Given the description of an element on the screen output the (x, y) to click on. 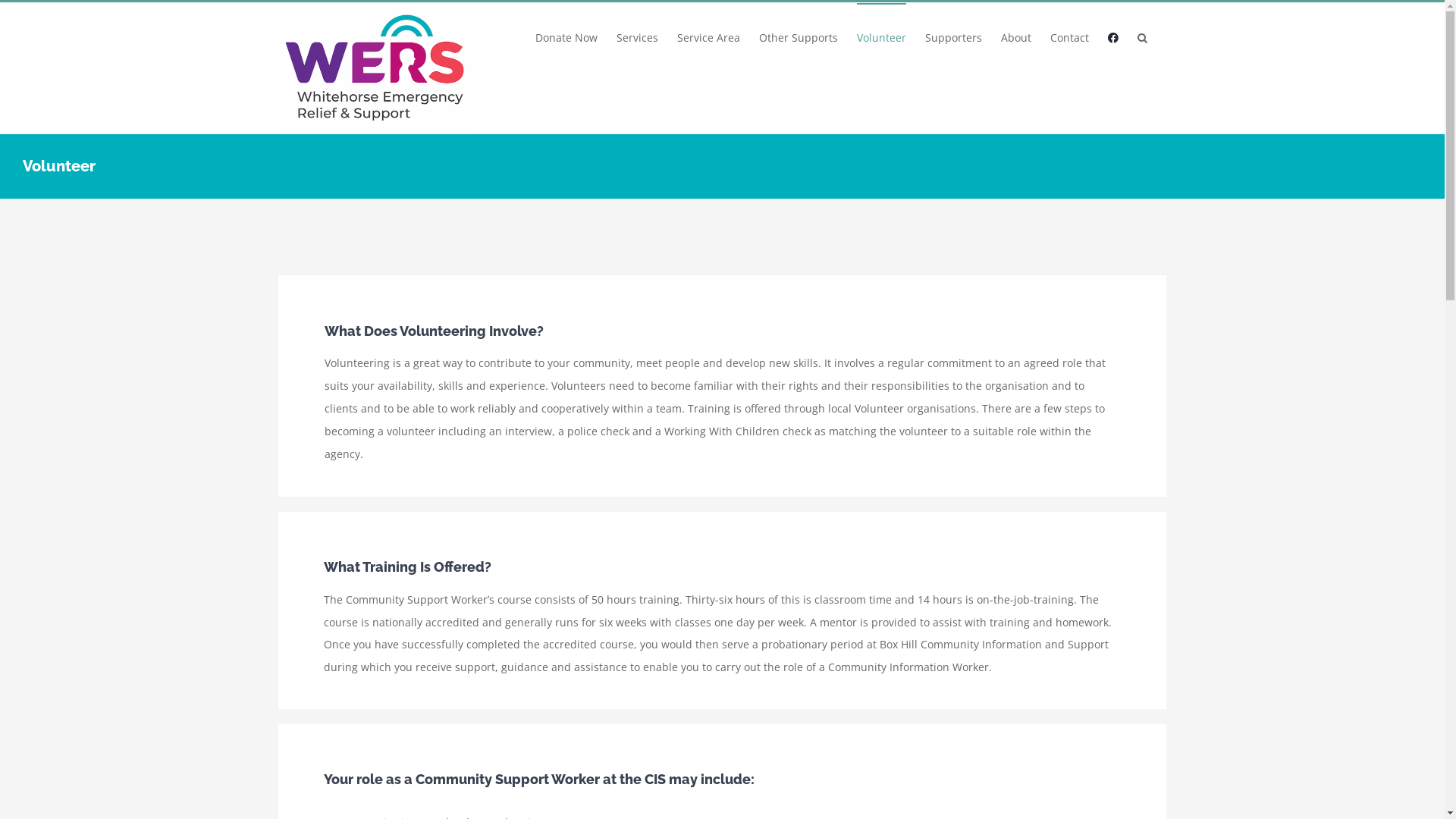
Service Area Element type: text (707, 37)
Other Supports Element type: text (797, 37)
Search Element type: hover (1142, 37)
Contact Element type: text (1068, 37)
Supporters Element type: text (953, 37)
Donate Now Element type: text (566, 37)
Services Element type: text (636, 37)
Facebook Element type: hover (1112, 37)
About Element type: text (1016, 37)
Volunteer Element type: text (881, 37)
